Given the description of an element on the screen output the (x, y) to click on. 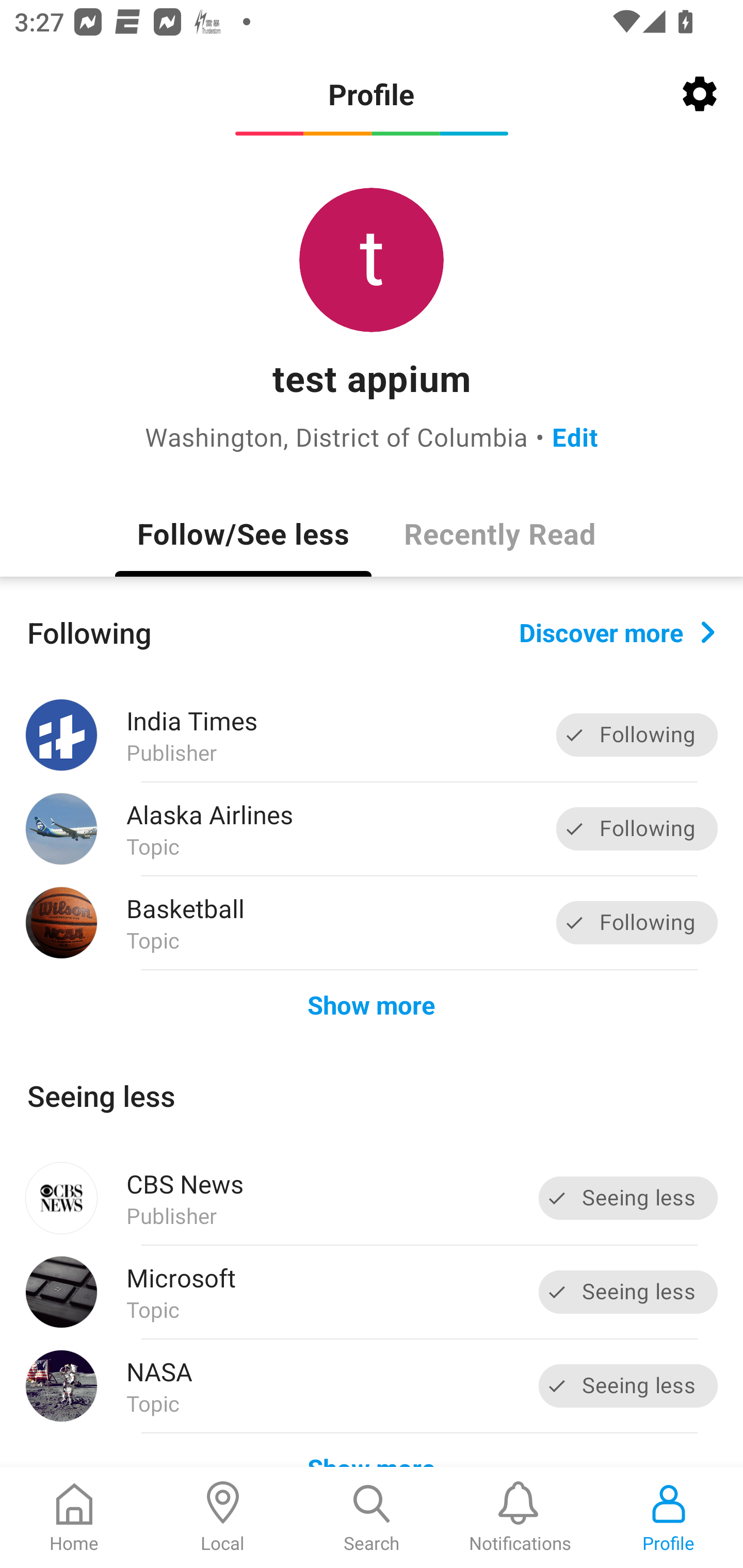
Settings (699, 93)
Edit (575, 436)
Recently Read (499, 533)
Discover more (617, 631)
India Times Publisher Following (371, 735)
Following (636, 735)
Alaska Airlines Topic Following (371, 829)
Following (636, 828)
Basketball Topic Following (371, 922)
Following (636, 922)
Show more (371, 1004)
CBS News Publisher Seeing less (371, 1197)
Seeing less (627, 1197)
Microsoft Topic Seeing less (371, 1291)
Seeing less (627, 1291)
NASA Topic Seeing less (371, 1386)
Seeing less (627, 1386)
Home (74, 1517)
Local (222, 1517)
Search (371, 1517)
Notifications (519, 1517)
